Given the description of an element on the screen output the (x, y) to click on. 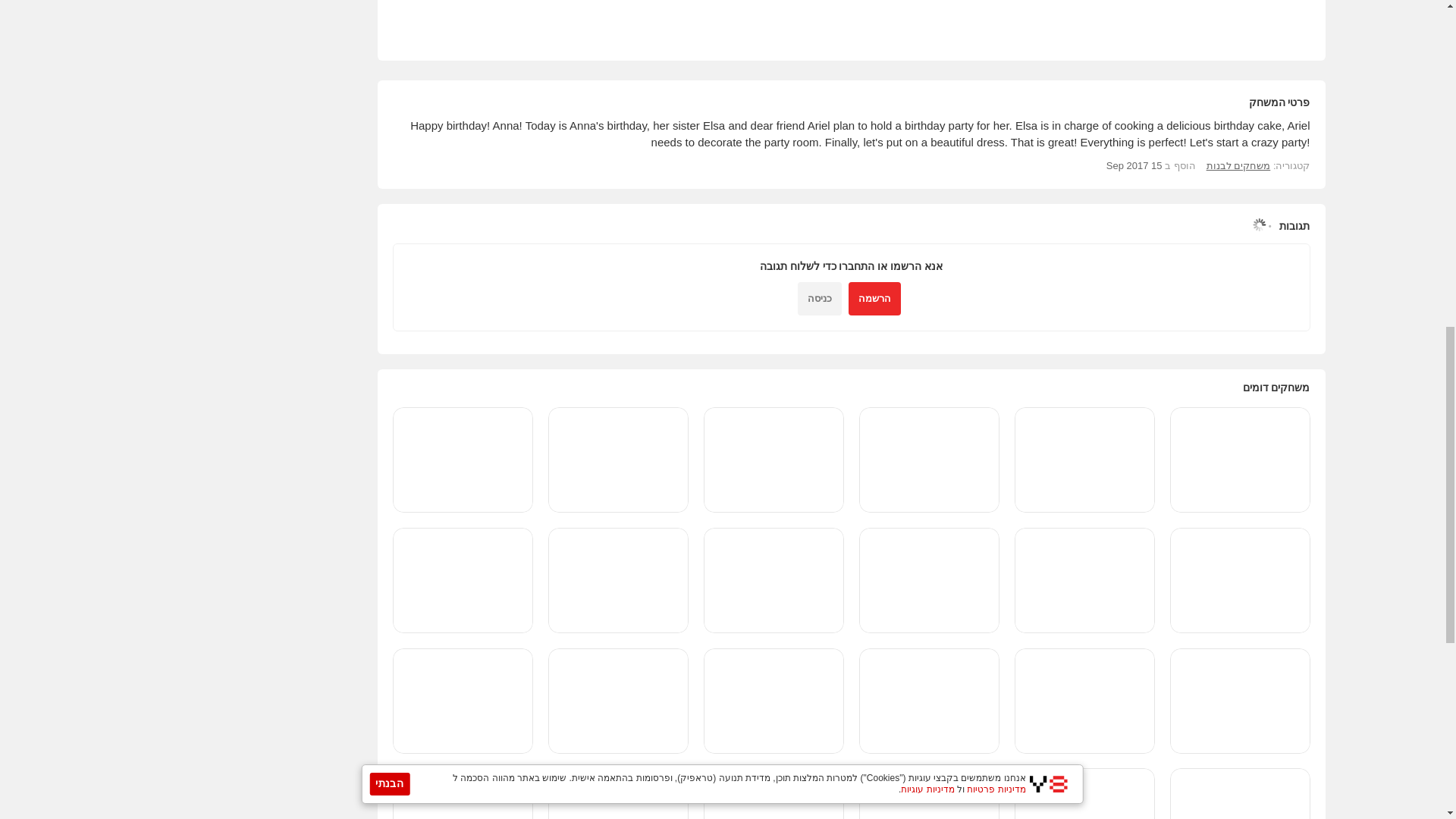
Girls (1239, 165)
